Given the description of an element on the screen output the (x, y) to click on. 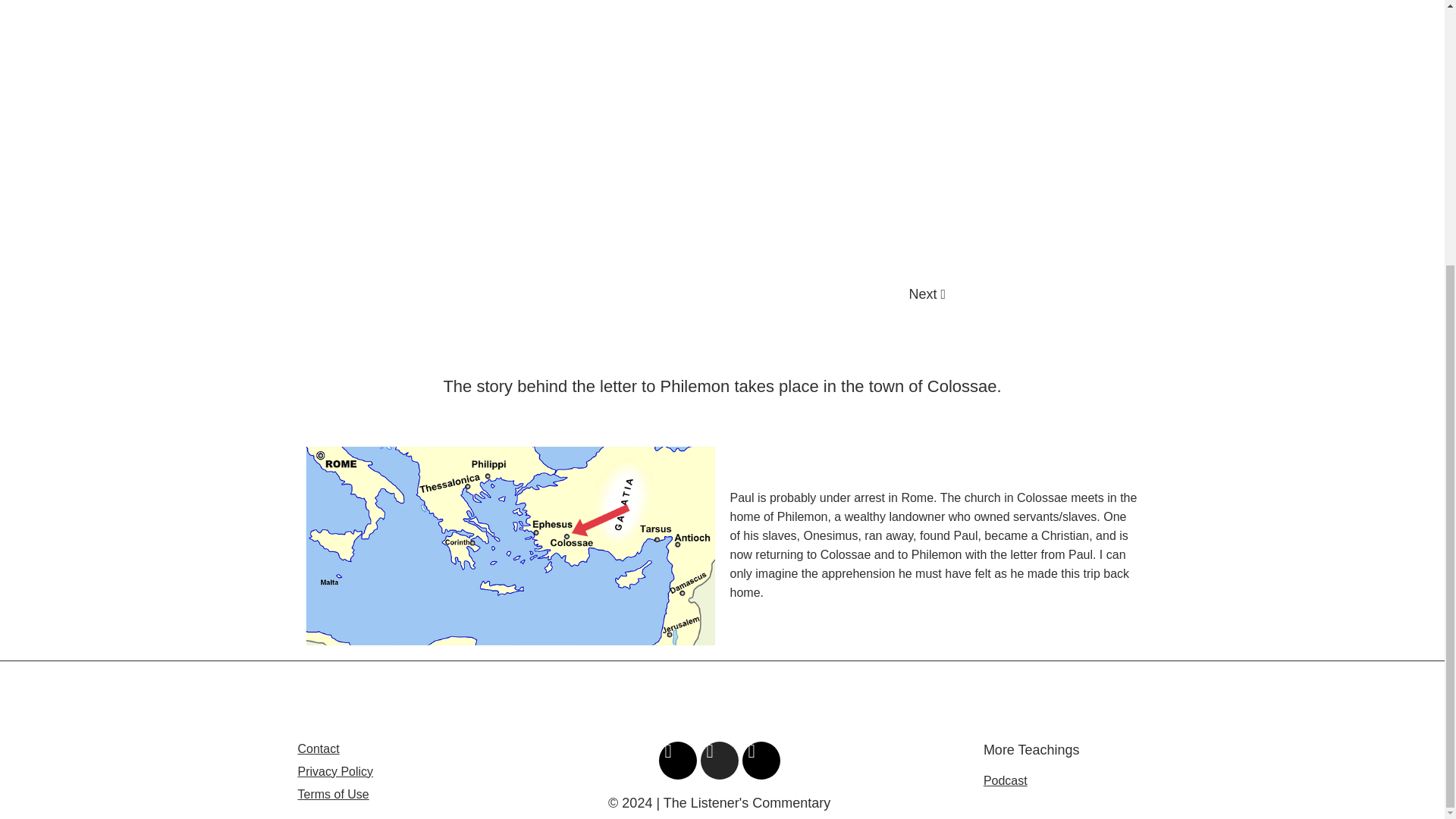
Privacy Policy (334, 771)
The Backstory to Philemon (718, 141)
Next (926, 294)
Terms of Use (332, 793)
Podcast (1005, 780)
Contact (318, 748)
